Given the description of an element on the screen output the (x, y) to click on. 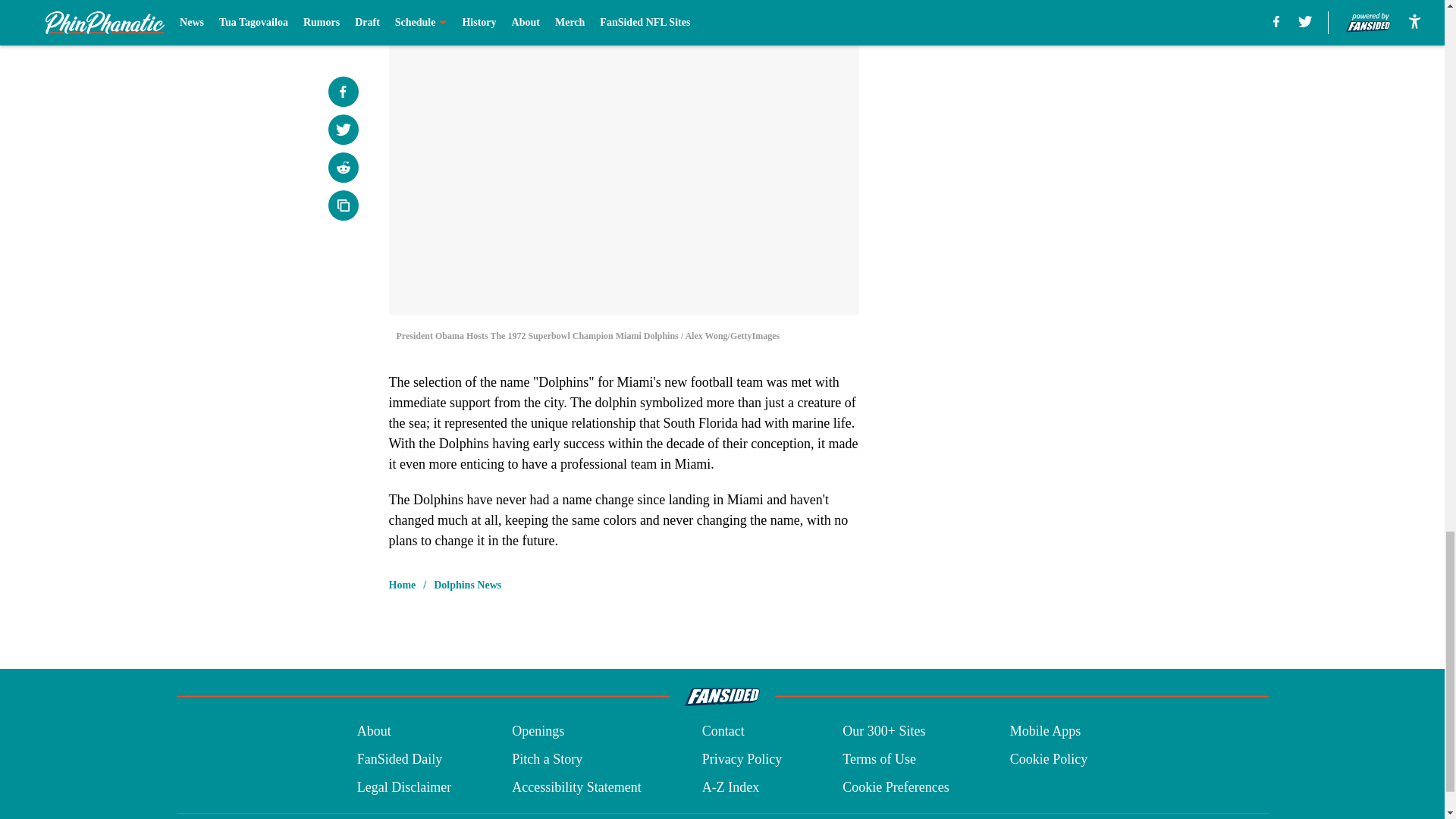
Cookie Policy (1048, 759)
Openings (538, 731)
Legal Disclaimer (403, 787)
Terms of Use (879, 759)
Mobile Apps (1045, 731)
About (373, 731)
Home (401, 585)
Dolphins News (466, 585)
FanSided Daily (399, 759)
Accessibility Statement (576, 787)
